Given the description of an element on the screen output the (x, y) to click on. 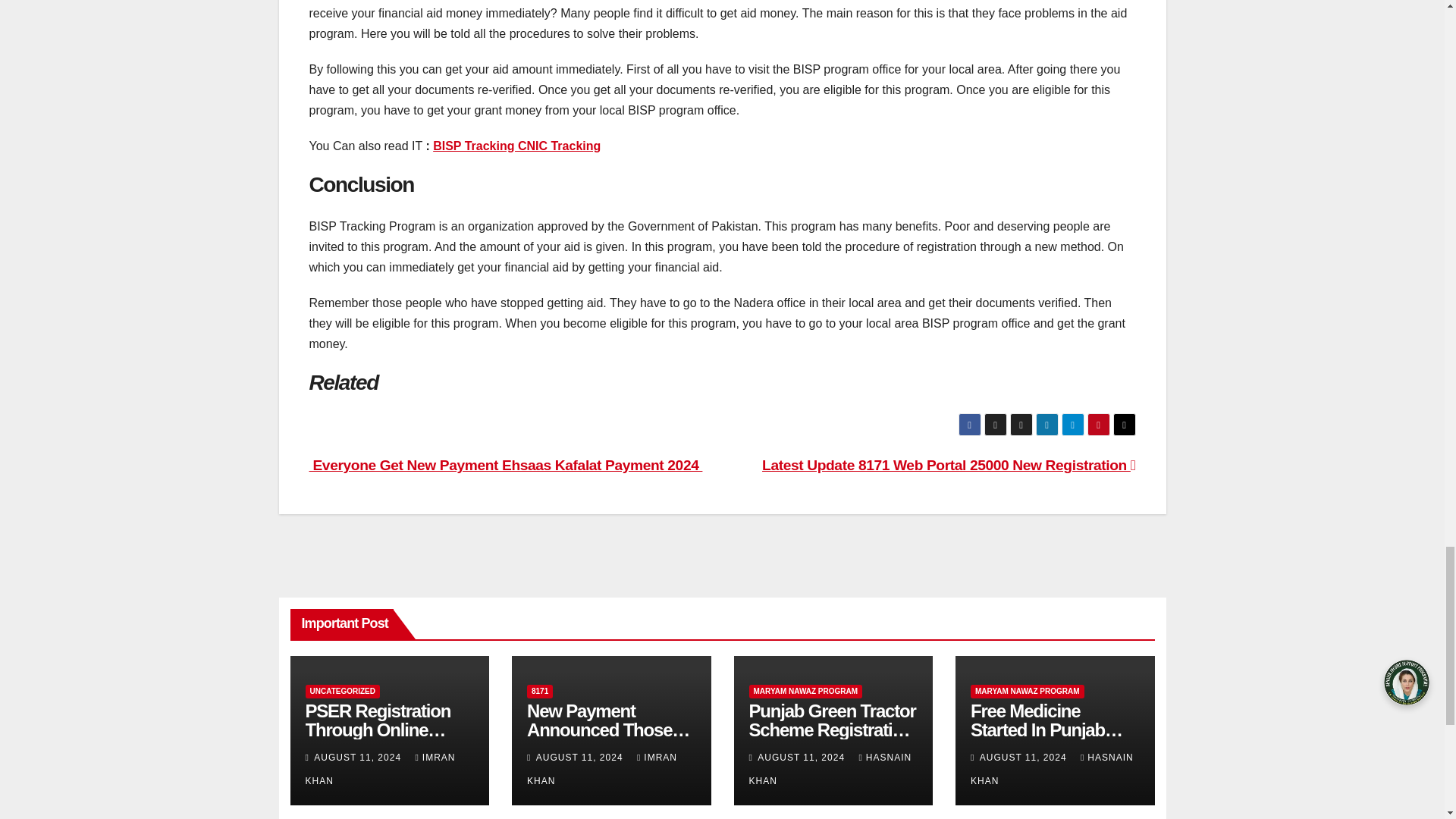
BISP Tracking CNIC Tracking (515, 145)
8171 (540, 691)
IMRAN KHAN (379, 769)
AUGUST 11, 2024 (580, 757)
PSER Registration Through Online Portal Latest Update (383, 730)
Everyone Get New Payment Ehsaas Kafalat Payment 2024  (505, 465)
